Given the description of an element on the screen output the (x, y) to click on. 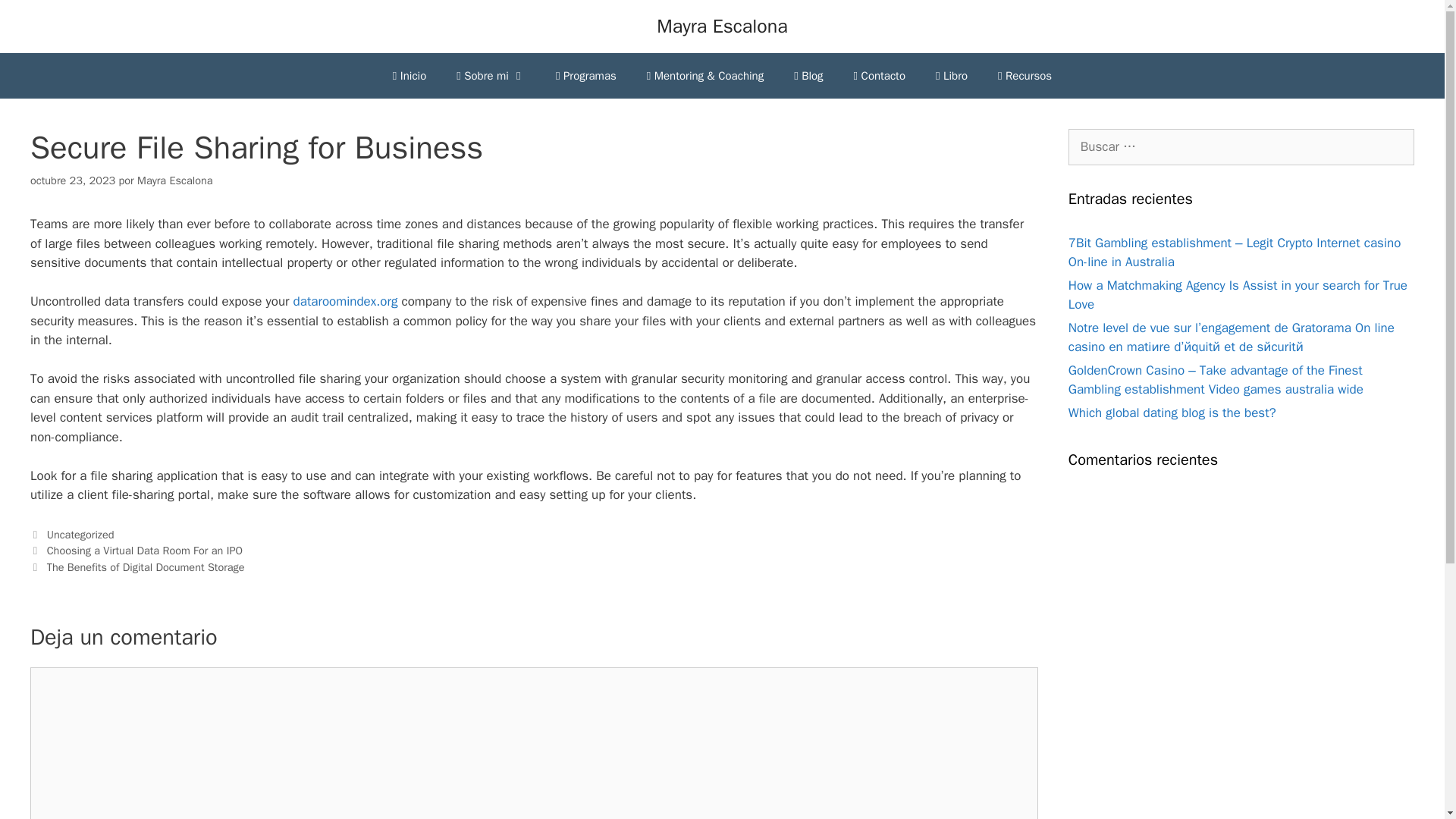
Programas (585, 75)
Contacto (879, 75)
Blog (808, 75)
Recursos (1024, 75)
dataroomindex.org (345, 301)
Libro (951, 75)
Mayra Escalona (721, 25)
Buscar: (1240, 146)
Sobre mi (490, 75)
